Given the description of an element on the screen output the (x, y) to click on. 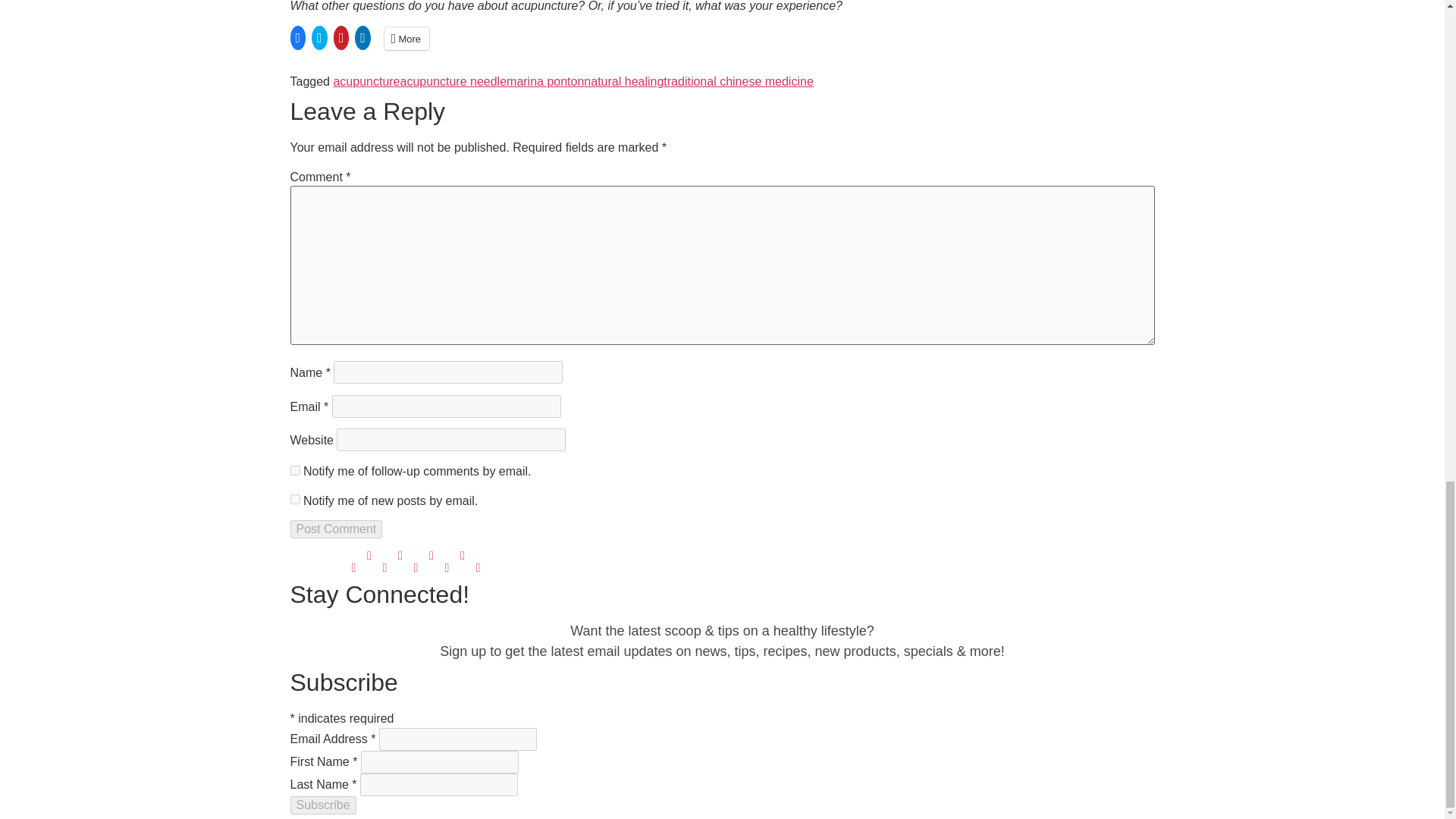
Subscribe (322, 805)
Post Comment (335, 529)
subscribe (294, 470)
subscribe (294, 499)
